Given the description of an element on the screen output the (x, y) to click on. 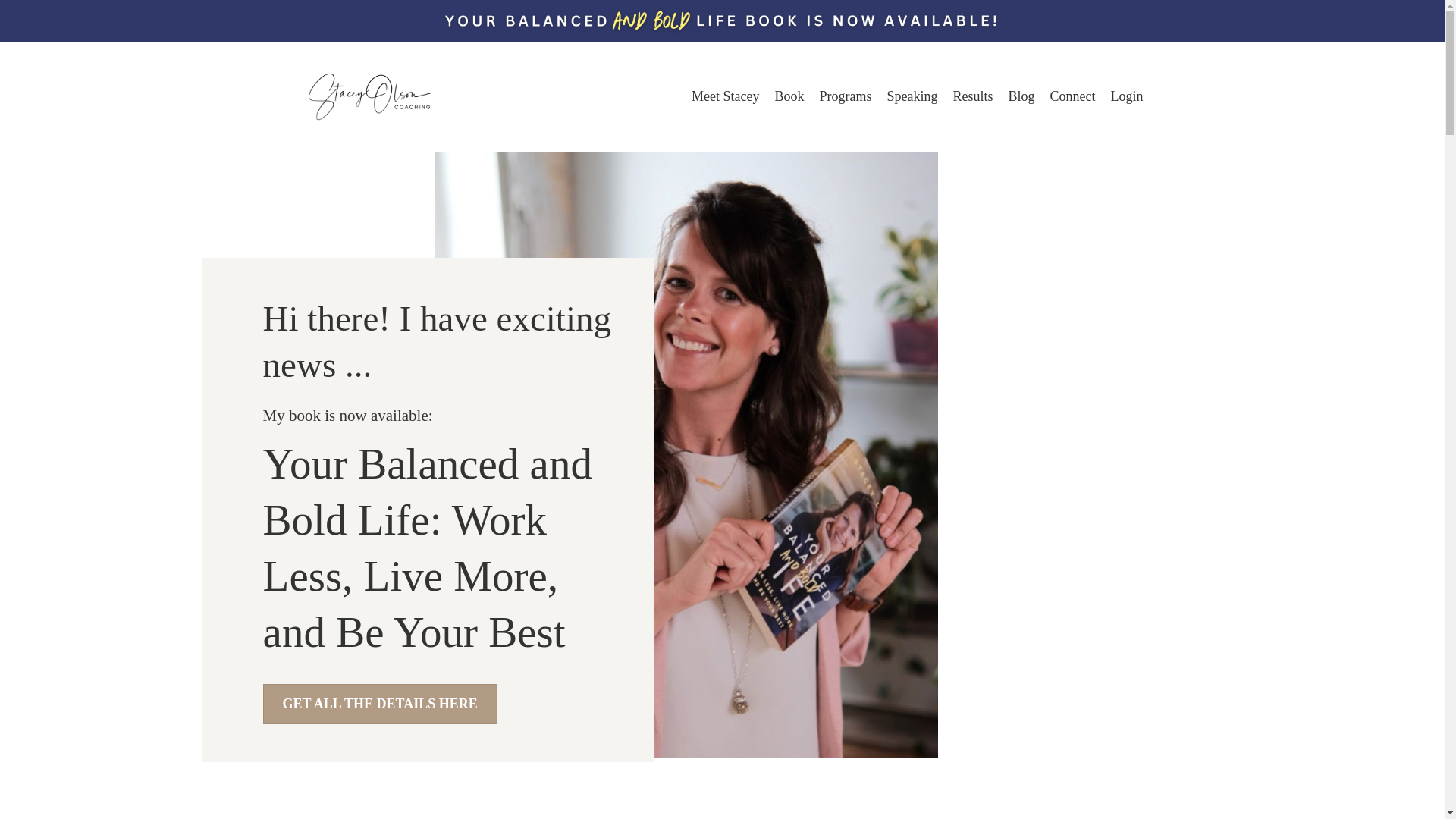
Connect (1072, 96)
Programs (844, 96)
Speaking (911, 96)
Meet Stacey (725, 96)
GET ALL THE DETAILS HERE (380, 703)
Blog (1021, 96)
Results (972, 96)
Login (1126, 96)
Book (788, 96)
